Given the description of an element on the screen output the (x, y) to click on. 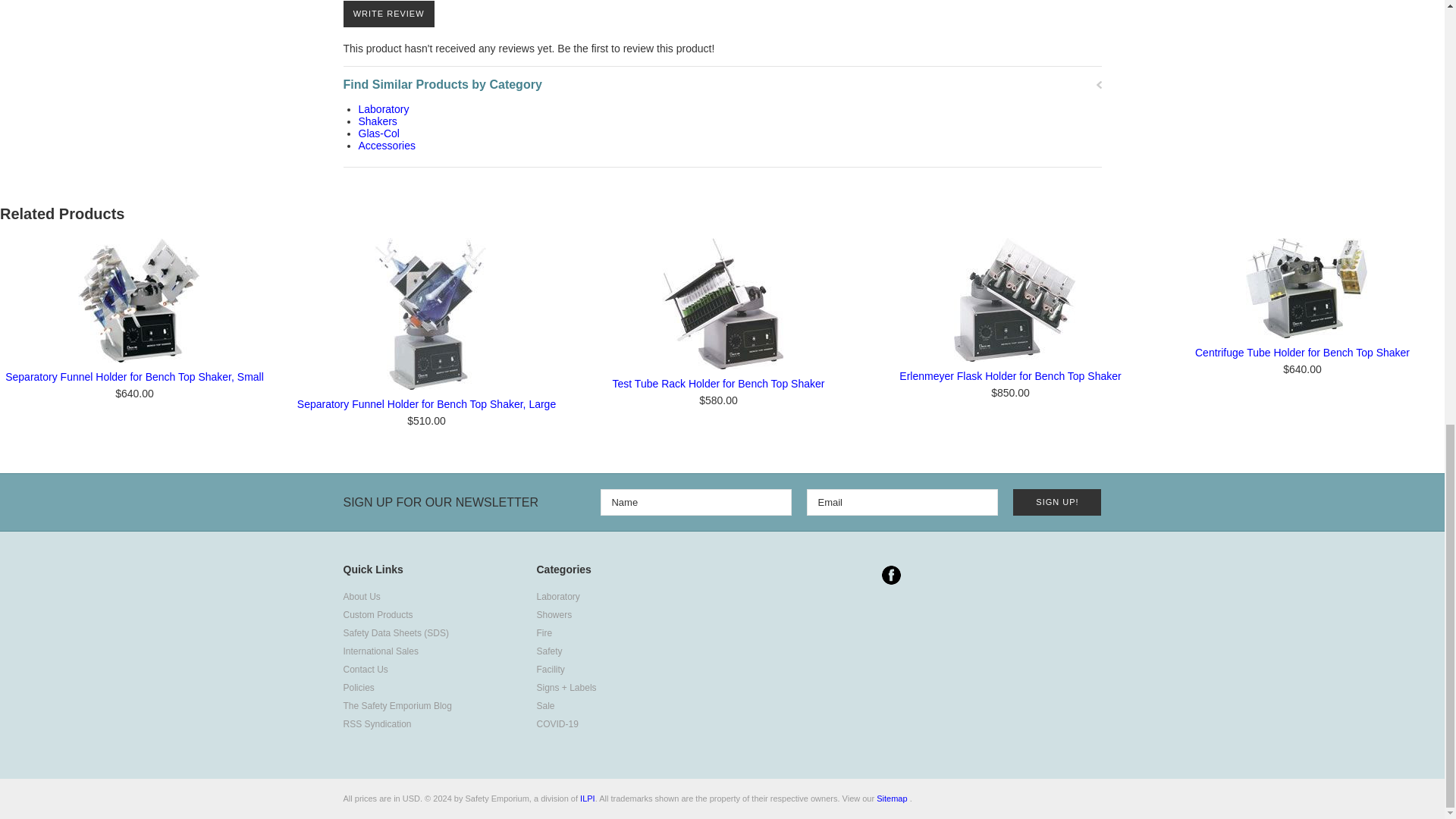
US Dollars (411, 798)
Name (695, 501)
Sign Up! (1056, 501)
Email (901, 501)
Facebook (889, 574)
